Given the description of an element on the screen output the (x, y) to click on. 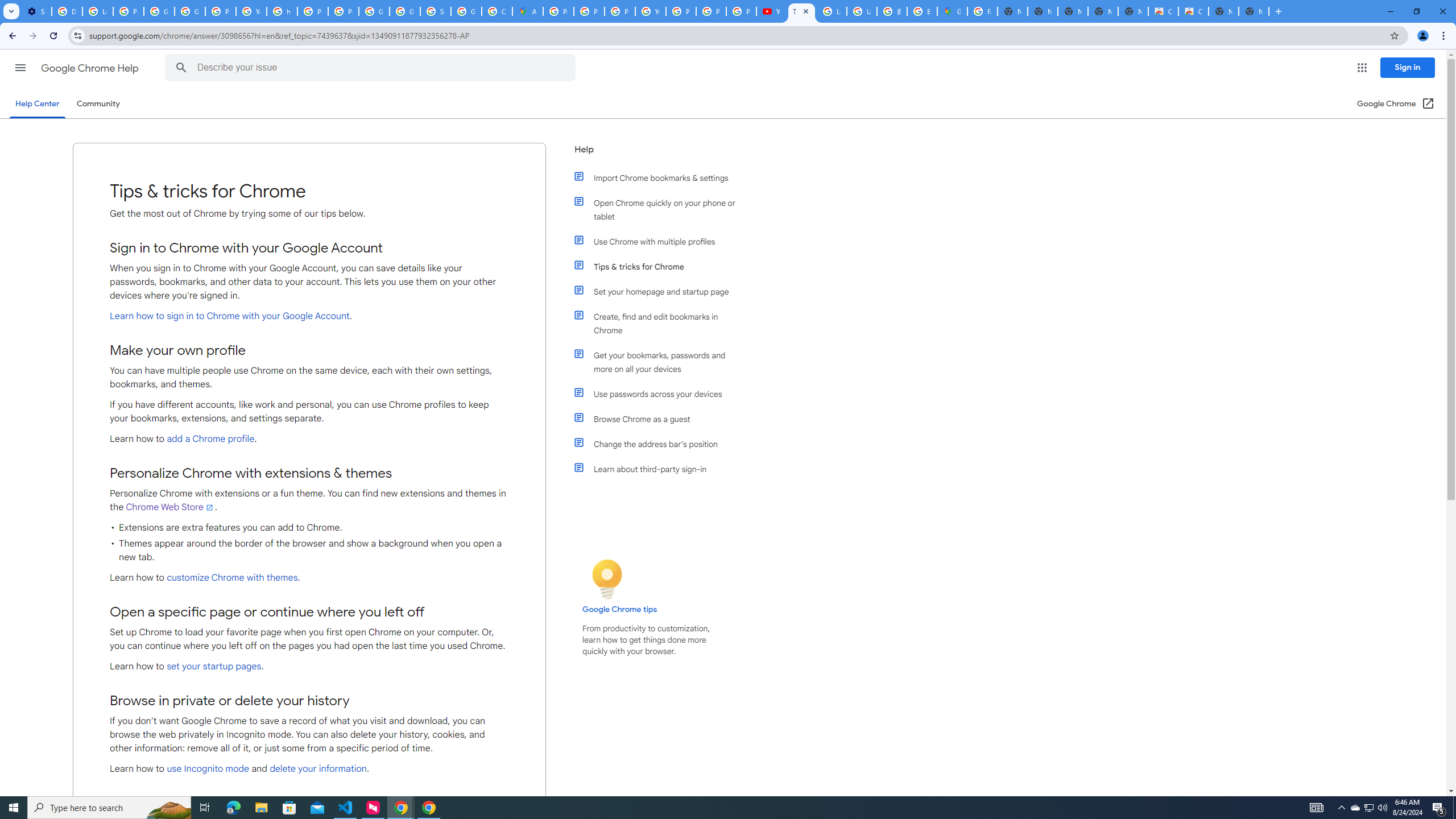
Explore new street-level details - Google Maps Help (922, 11)
Sign in - Google Accounts (434, 11)
YouTube (251, 11)
Open Chrome quickly on your phone or tablet (661, 209)
Privacy Help Center - Policies Help (312, 11)
Create, find and edit bookmarks in Chrome (661, 323)
Describe your issue (371, 67)
New Tab (1253, 11)
Classic Blue - Chrome Web Store (1162, 11)
